Given the description of an element on the screen output the (x, y) to click on. 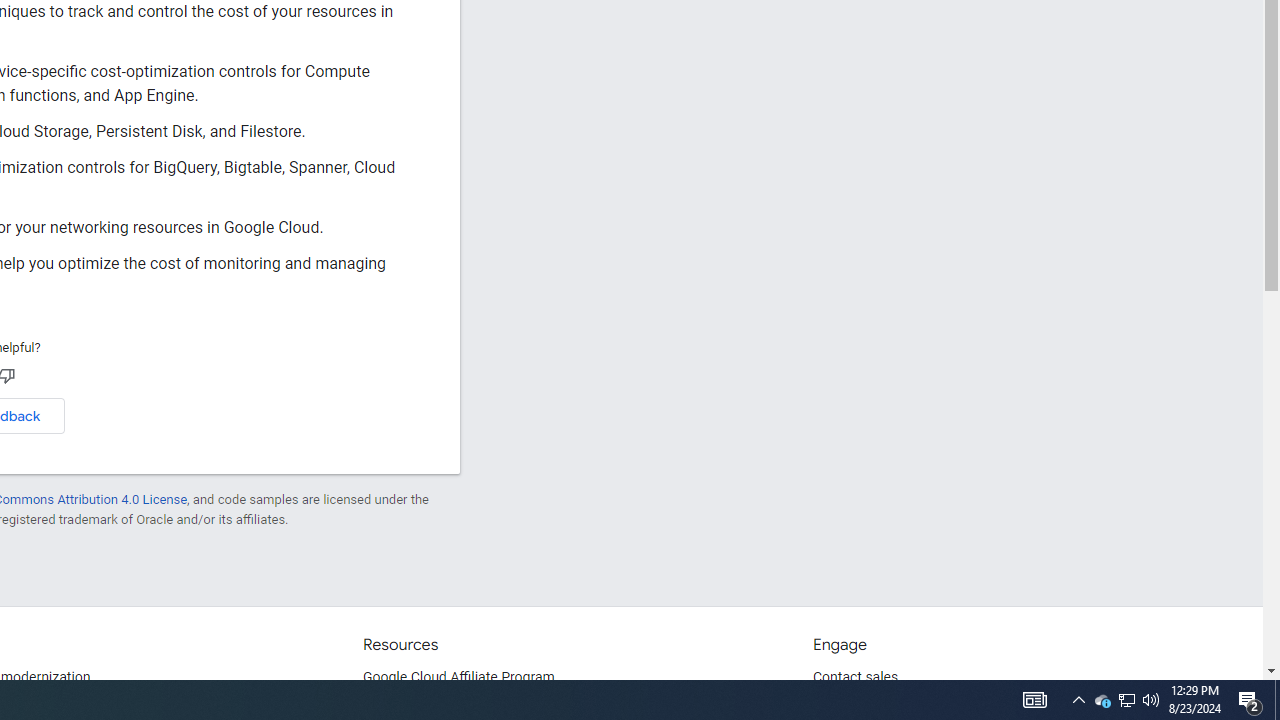
Contact sales (855, 677)
Google Cloud Affiliate Program (459, 677)
